Given the description of an element on the screen output the (x, y) to click on. 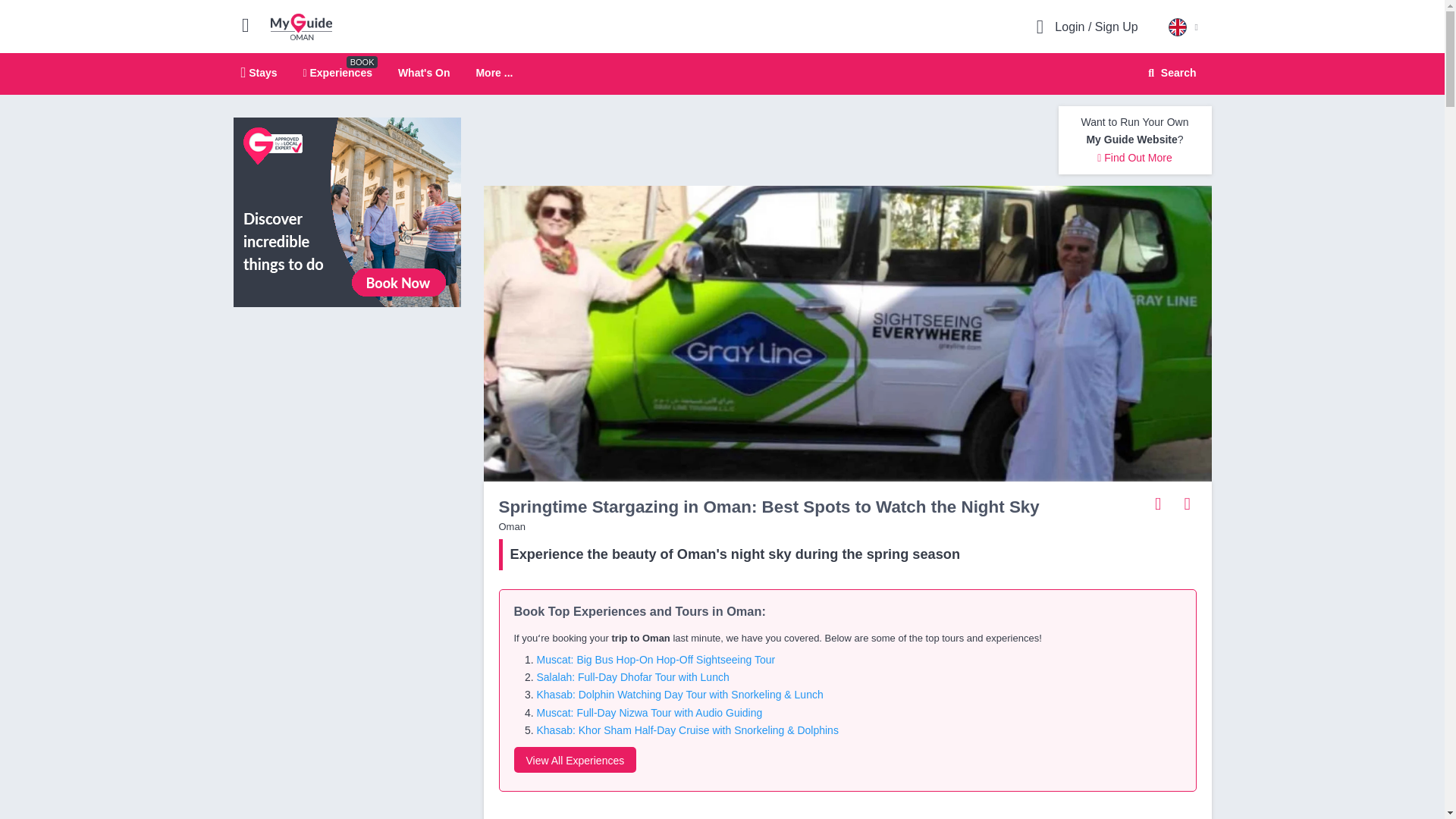
Search Website (1170, 73)
Experiences (337, 72)
View All Experiences (346, 211)
View All Experiences (575, 759)
Stays (259, 72)
My Guide Oman (300, 25)
Search (1169, 72)
What's On (423, 72)
More ... (721, 74)
